Given the description of an element on the screen output the (x, y) to click on. 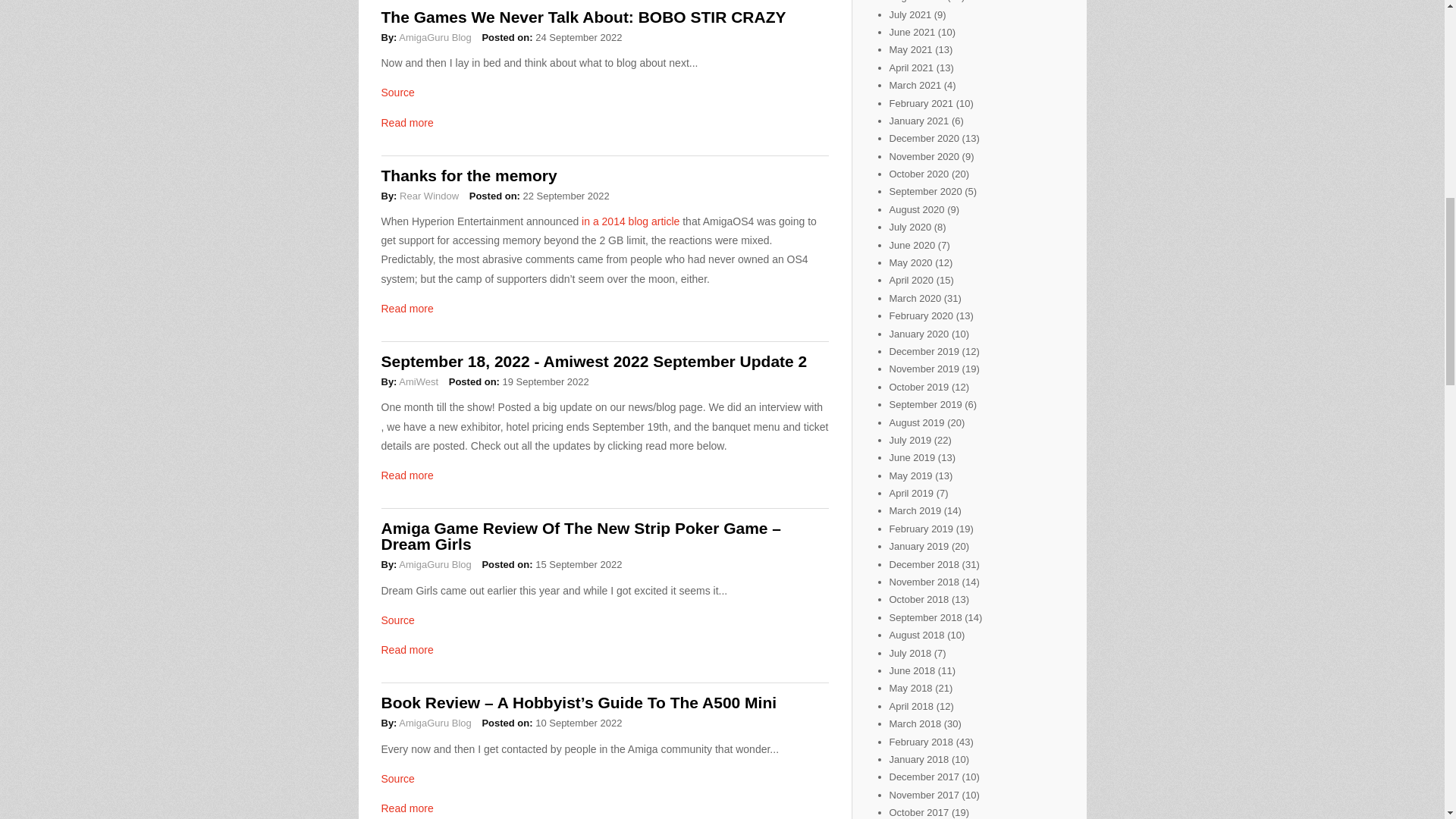
Thanks for the memory (468, 175)
Rear Window (428, 195)
AmigaGuru Blog (434, 722)
AmigaGuru Blog (434, 37)
Read more (406, 649)
Read more (406, 808)
Read more (406, 308)
Source (396, 620)
Source (396, 92)
The Games We Never Talk About: BOBO STIR CRAZY (583, 16)
